Given the description of an element on the screen output the (x, y) to click on. 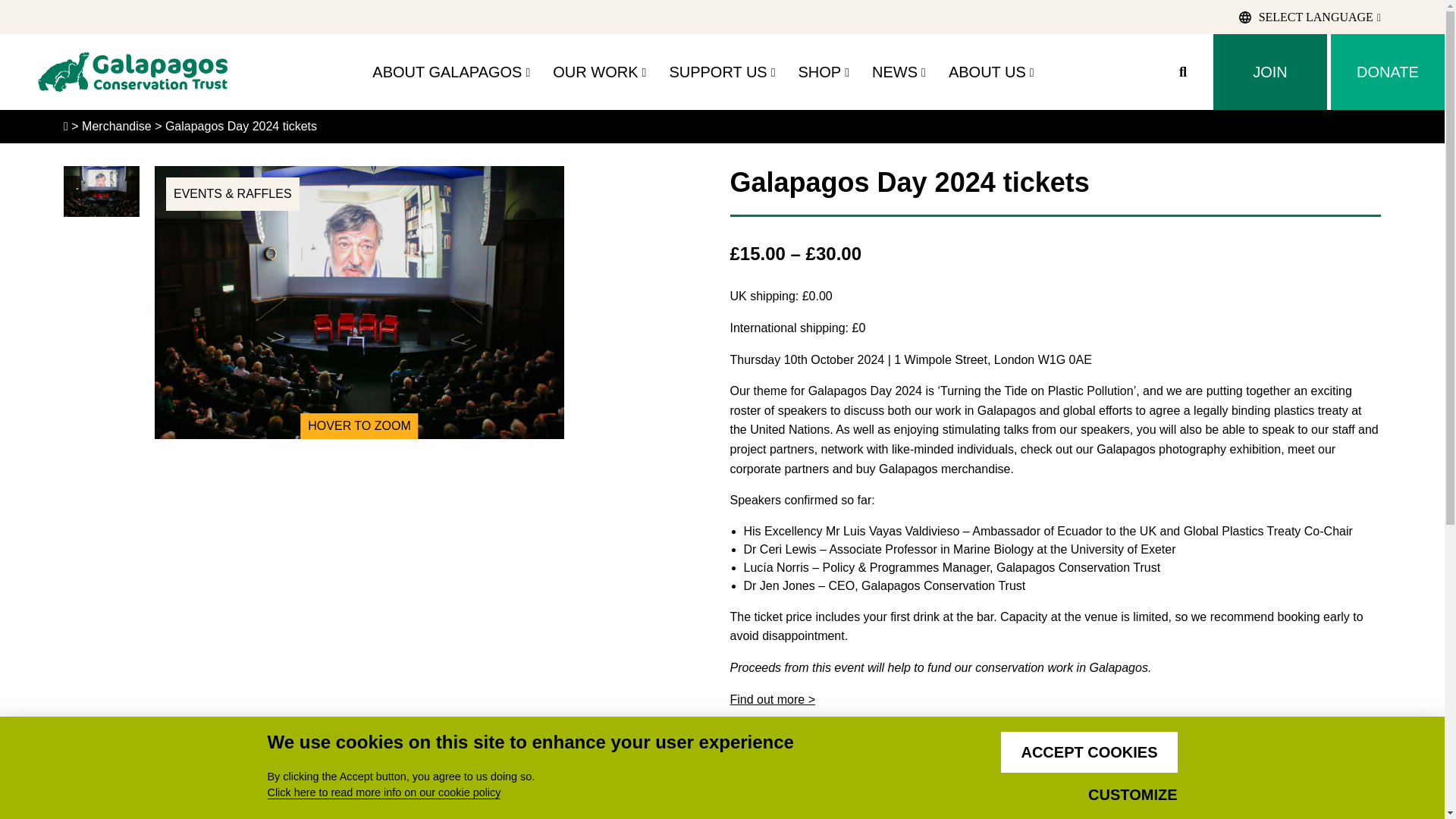
SELECT LANGUAGE (1309, 17)
Home (132, 71)
SUPPORT US (721, 71)
1 (759, 785)
OUR WORK (599, 71)
ABOUT GALAPAGOS (450, 71)
